Given the description of an element on the screen output the (x, y) to click on. 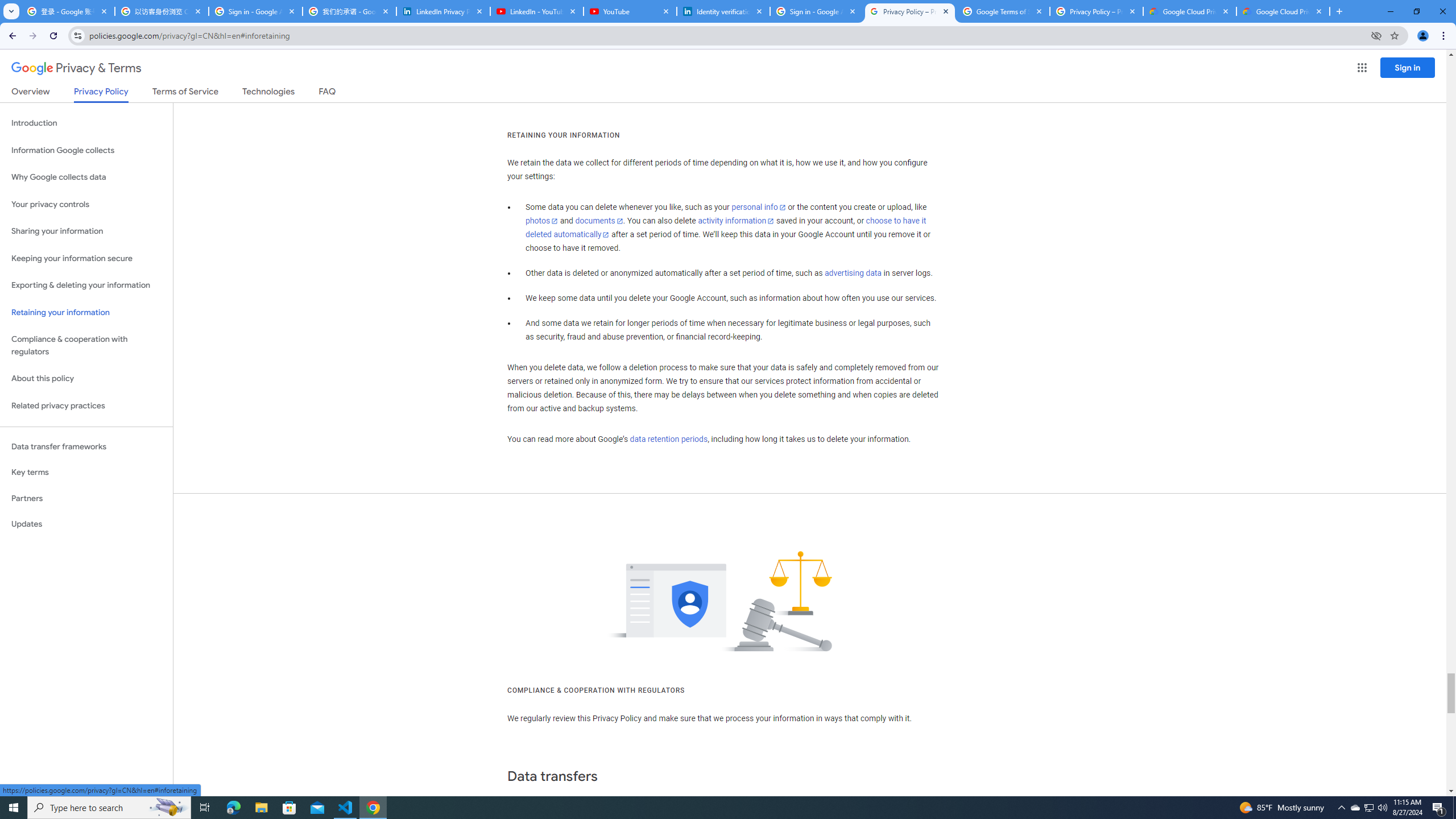
Sharing your information (86, 230)
Partners (86, 497)
personal info (758, 207)
Exporting & deleting your information (86, 284)
Data transfer frameworks (86, 446)
